Given the description of an element on the screen output the (x, y) to click on. 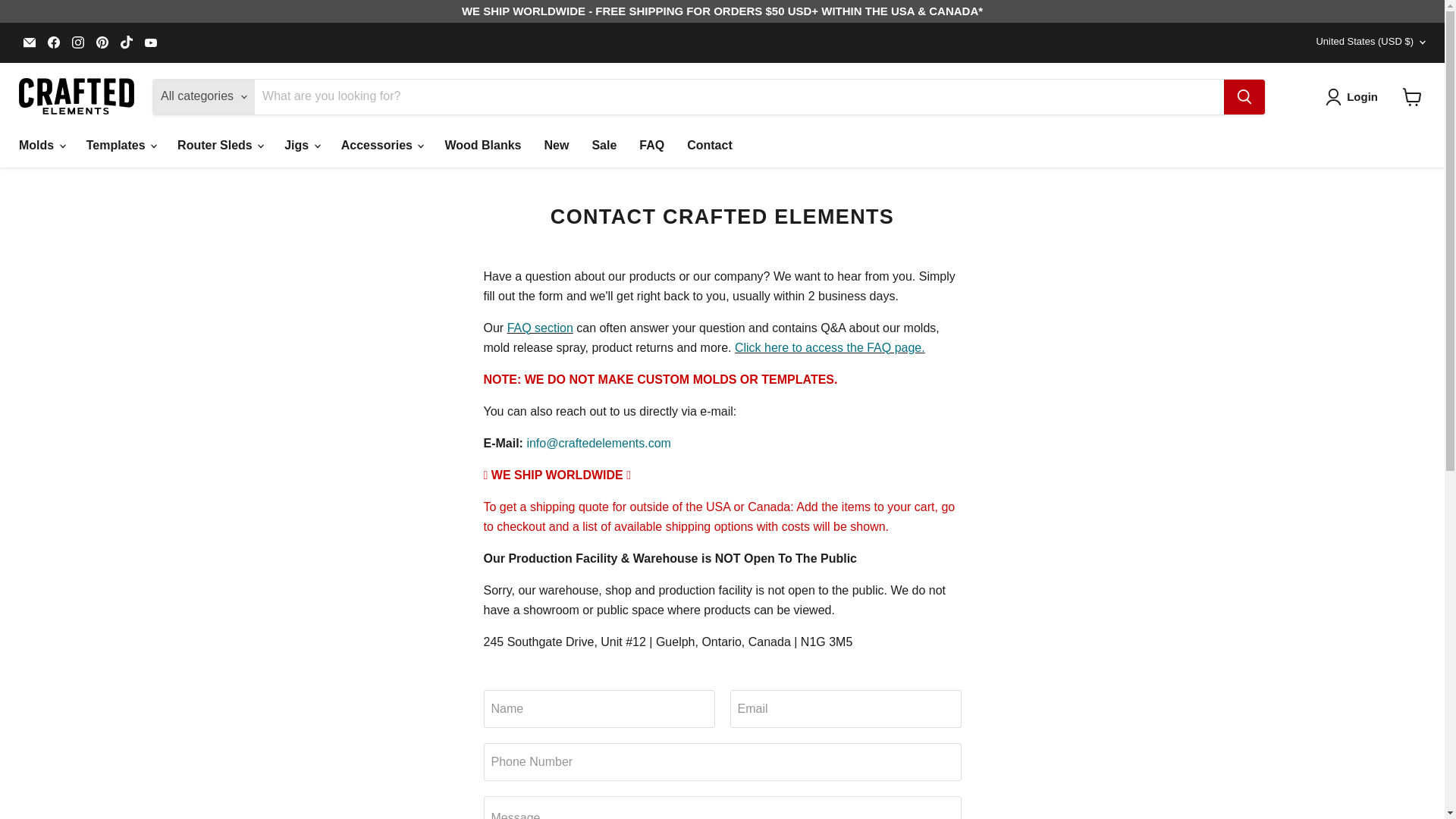
Facebook (53, 42)
Find us on Instagram (77, 42)
Instagram (77, 42)
Find us on Facebook (53, 42)
Email Crafted Elements (29, 42)
Find us on YouTube (150, 42)
Pinterest (102, 42)
YouTube (150, 42)
Find us on Pinterest (102, 42)
Find us on TikTok (126, 42)
Email (29, 42)
TikTok (126, 42)
